Given the description of an element on the screen output the (x, y) to click on. 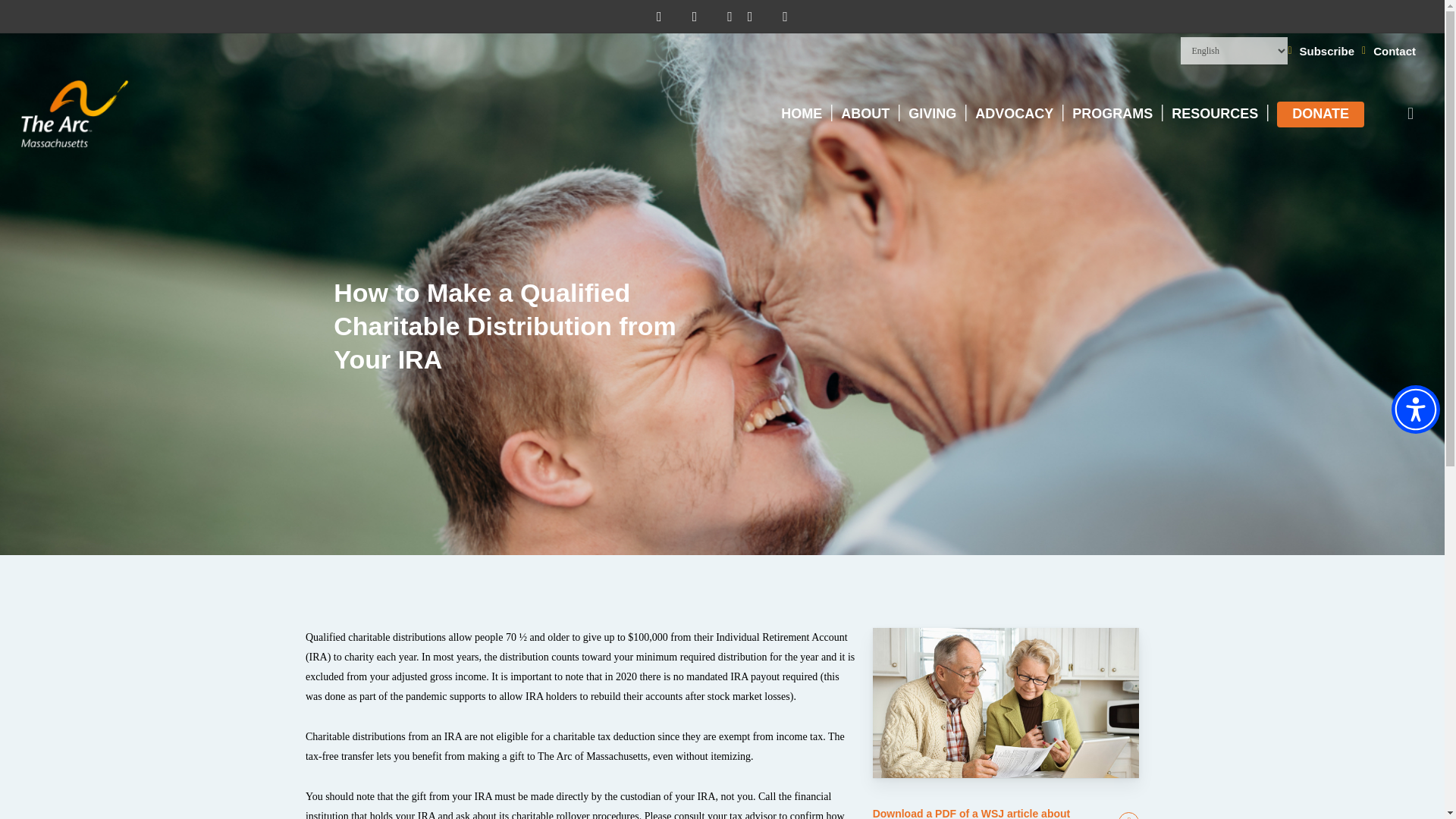
instagram (793, 17)
youtube (758, 17)
twitter (666, 17)
facebook (703, 17)
ABOUT (865, 114)
Subscribe (1327, 51)
GIVING (932, 114)
HOME (801, 114)
ADVOCACY (1013, 114)
Accessibility Menu (1415, 409)
Contact (1394, 51)
